Given the description of an element on the screen output the (x, y) to click on. 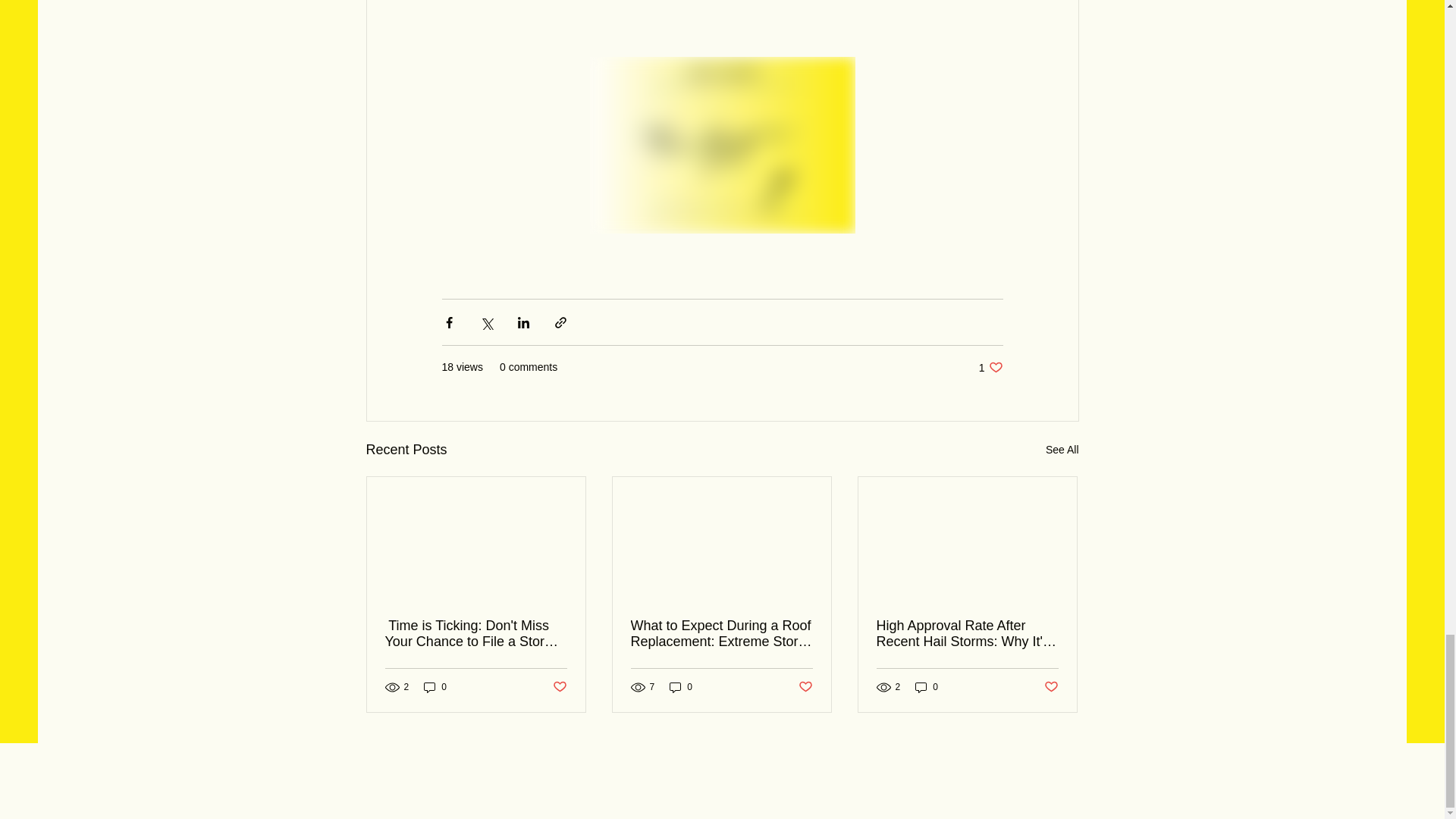
Post not marked as liked (1050, 687)
See All (990, 367)
0 (1061, 449)
0 (435, 687)
0 (926, 687)
Post not marked as liked (681, 687)
